Given the description of an element on the screen output the (x, y) to click on. 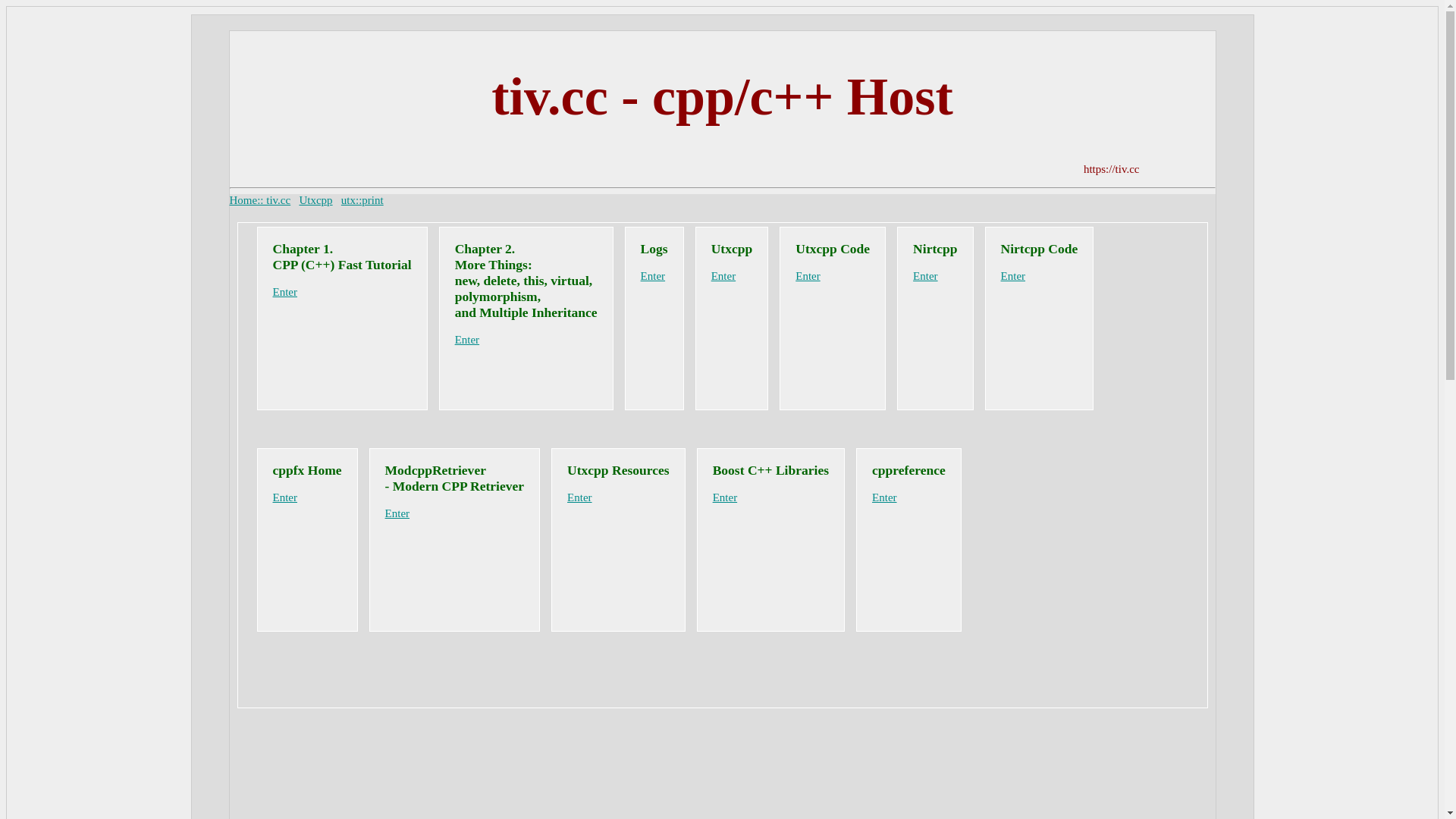
Enter Element type: text (925, 275)
Enter Element type: text (285, 497)
Enter Element type: text (884, 497)
Utxcpp Element type: text (315, 200)
Enter Element type: text (807, 275)
Enter Element type: text (467, 339)
Enter Element type: text (285, 291)
Enter Element type: text (723, 275)
Enter Element type: text (724, 497)
Enter Element type: text (397, 513)
Enter Element type: text (1013, 275)
utx::print Element type: text (362, 200)
Home:: tiv.cc Element type: text (259, 200)
Enter Element type: text (652, 275)
Enter Element type: text (579, 497)
